Given the description of an element on the screen output the (x, y) to click on. 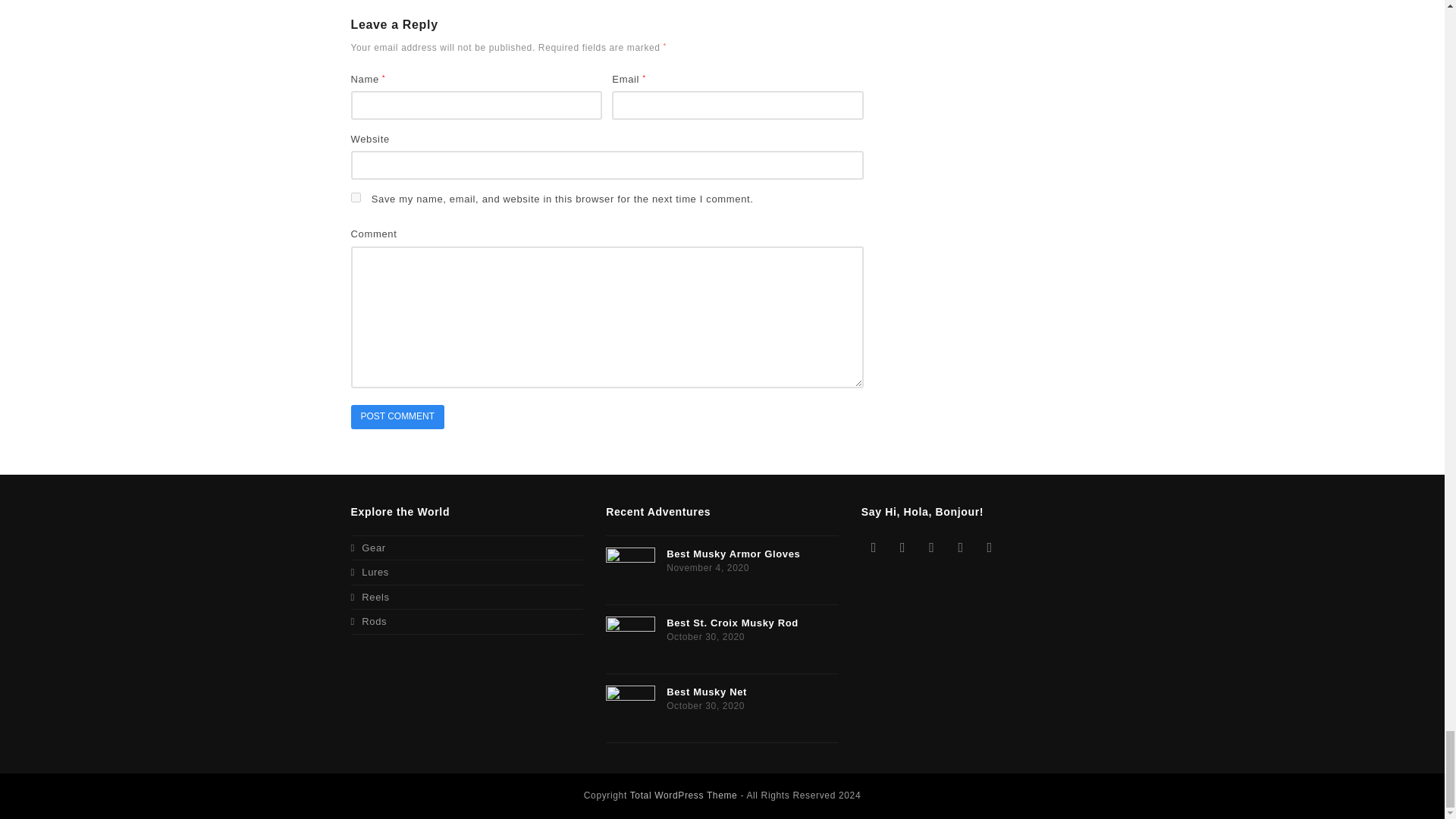
Pinterest (959, 547)
yes (354, 197)
Facebook (902, 547)
Instagram (930, 547)
Post Comment (397, 416)
Twitter (873, 547)
RSS (989, 547)
